Given the description of an element on the screen output the (x, y) to click on. 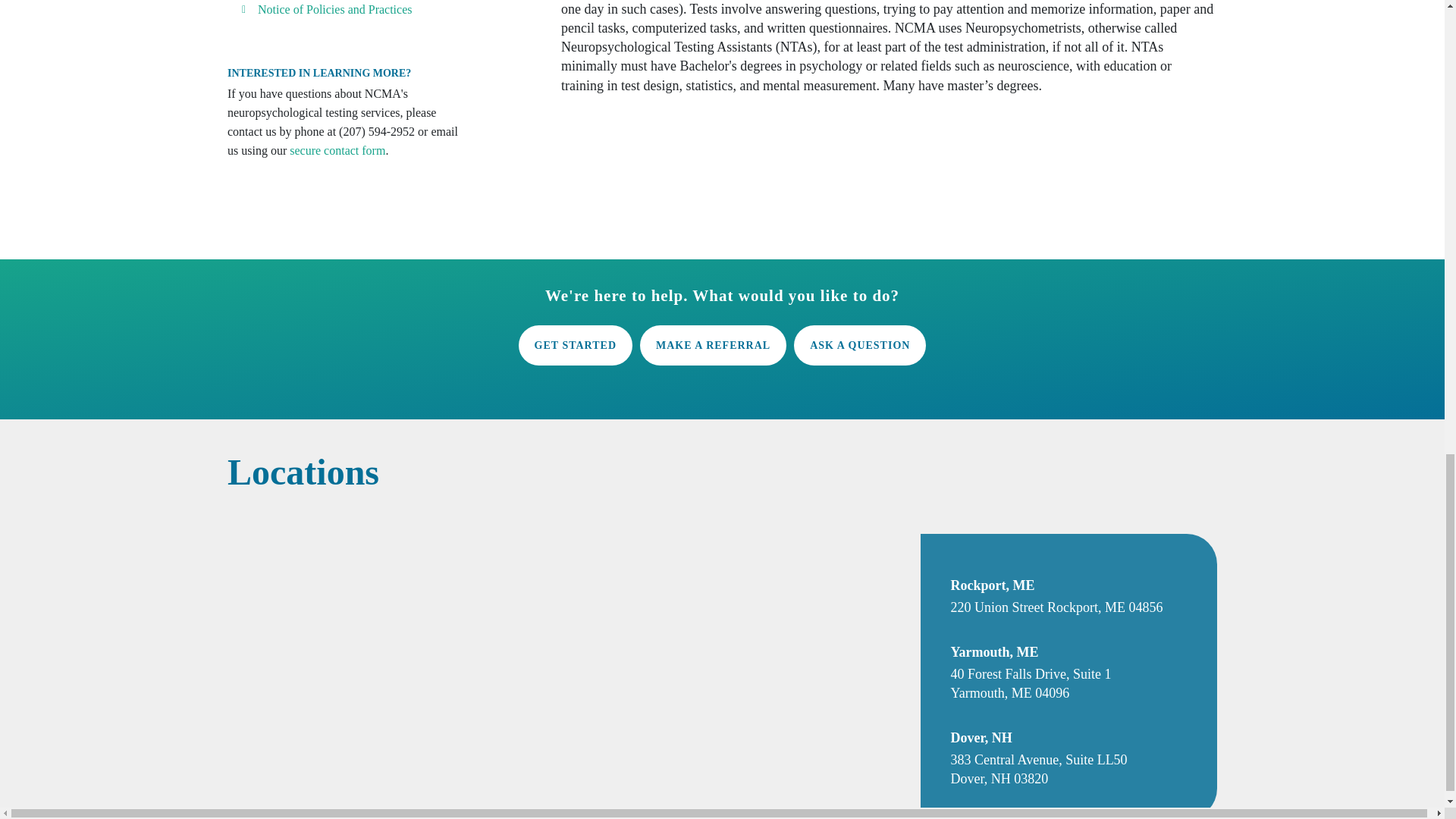
ASK A QUESTION (859, 345)
secure contact form (337, 150)
MAKE A REFERRAL (713, 345)
GET STARTED (574, 345)
Notice of Policies and Practices (334, 9)
